Given the description of an element on the screen output the (x, y) to click on. 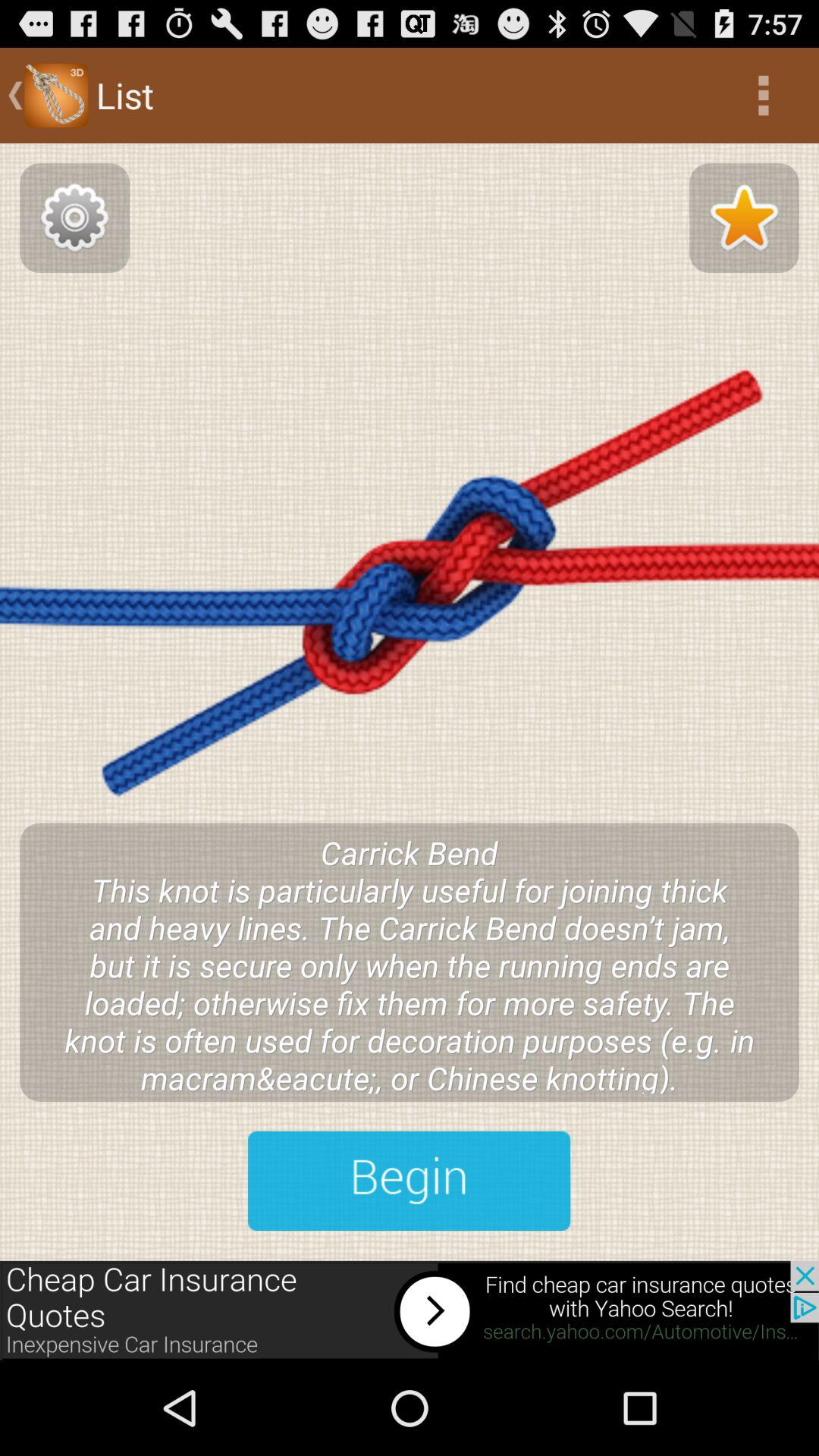
favorite (744, 218)
